Given the description of an element on the screen output the (x, y) to click on. 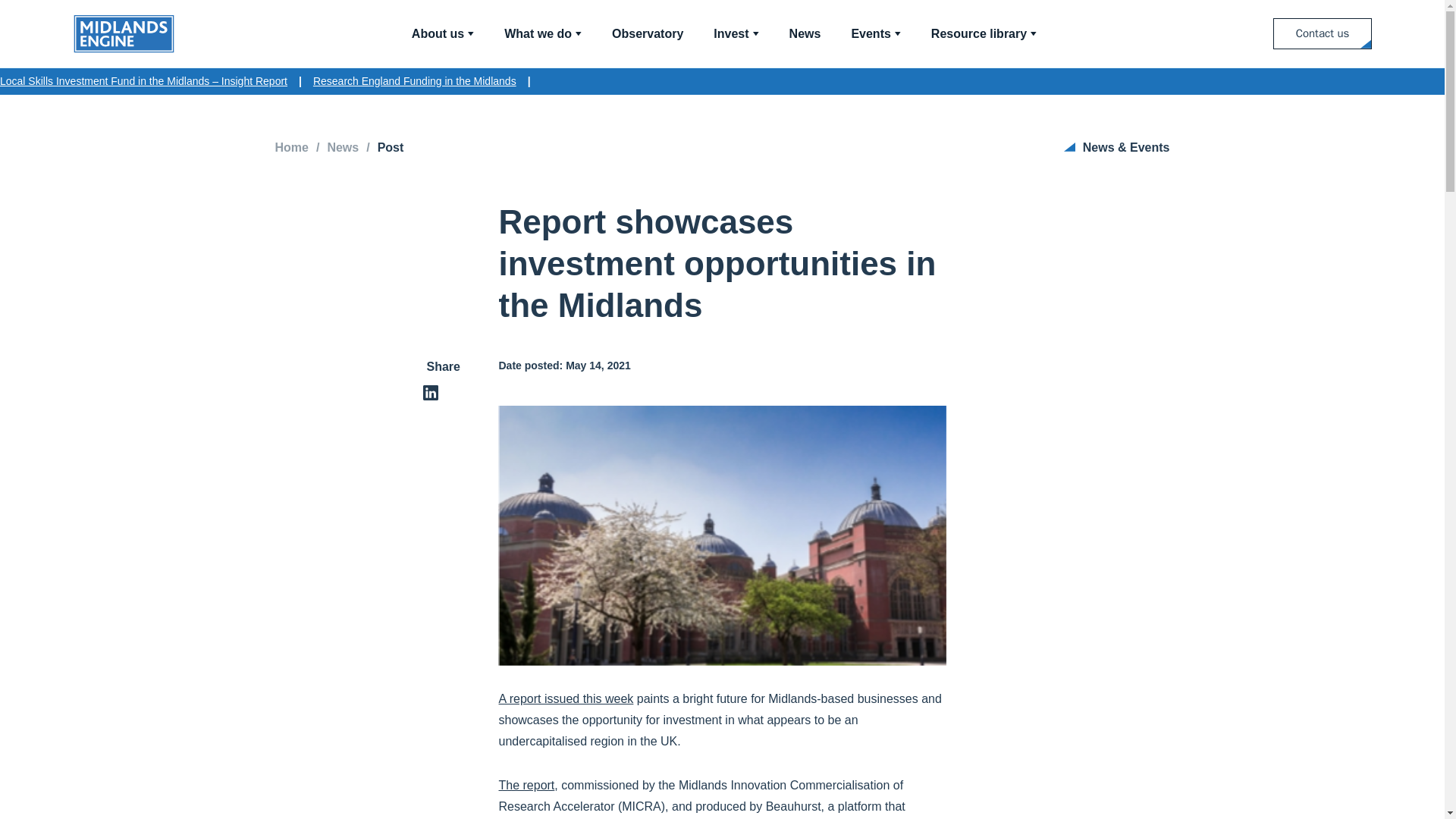
Observatory (646, 33)
About us (443, 33)
News (805, 33)
Research England Funding in the Midlands (414, 81)
Resource library (983, 33)
Contact us (1321, 33)
Events (874, 33)
What we do (541, 33)
Invest (735, 33)
